Given the description of an element on the screen output the (x, y) to click on. 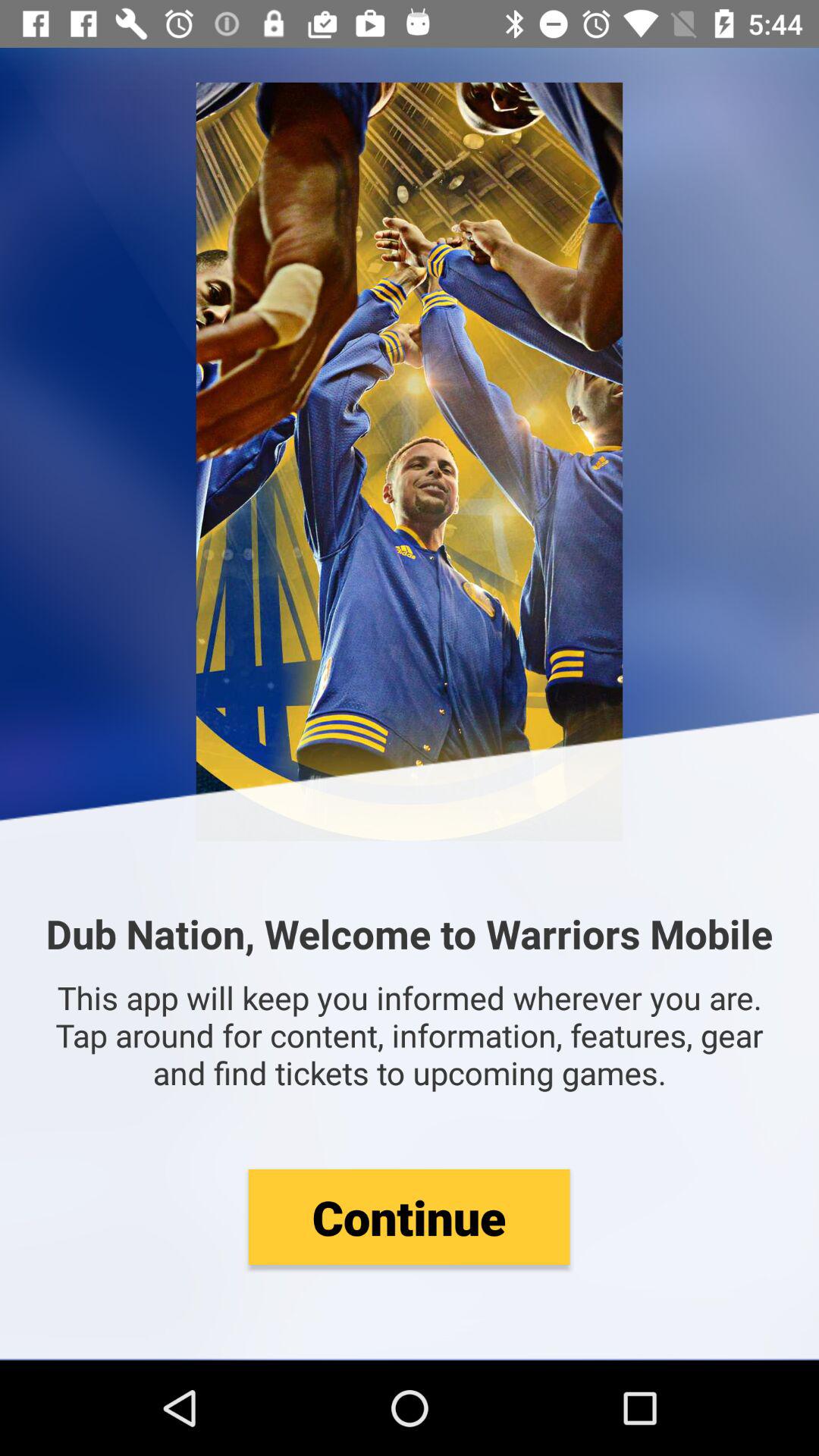
swipe until continue icon (408, 1216)
